Given the description of an element on the screen output the (x, y) to click on. 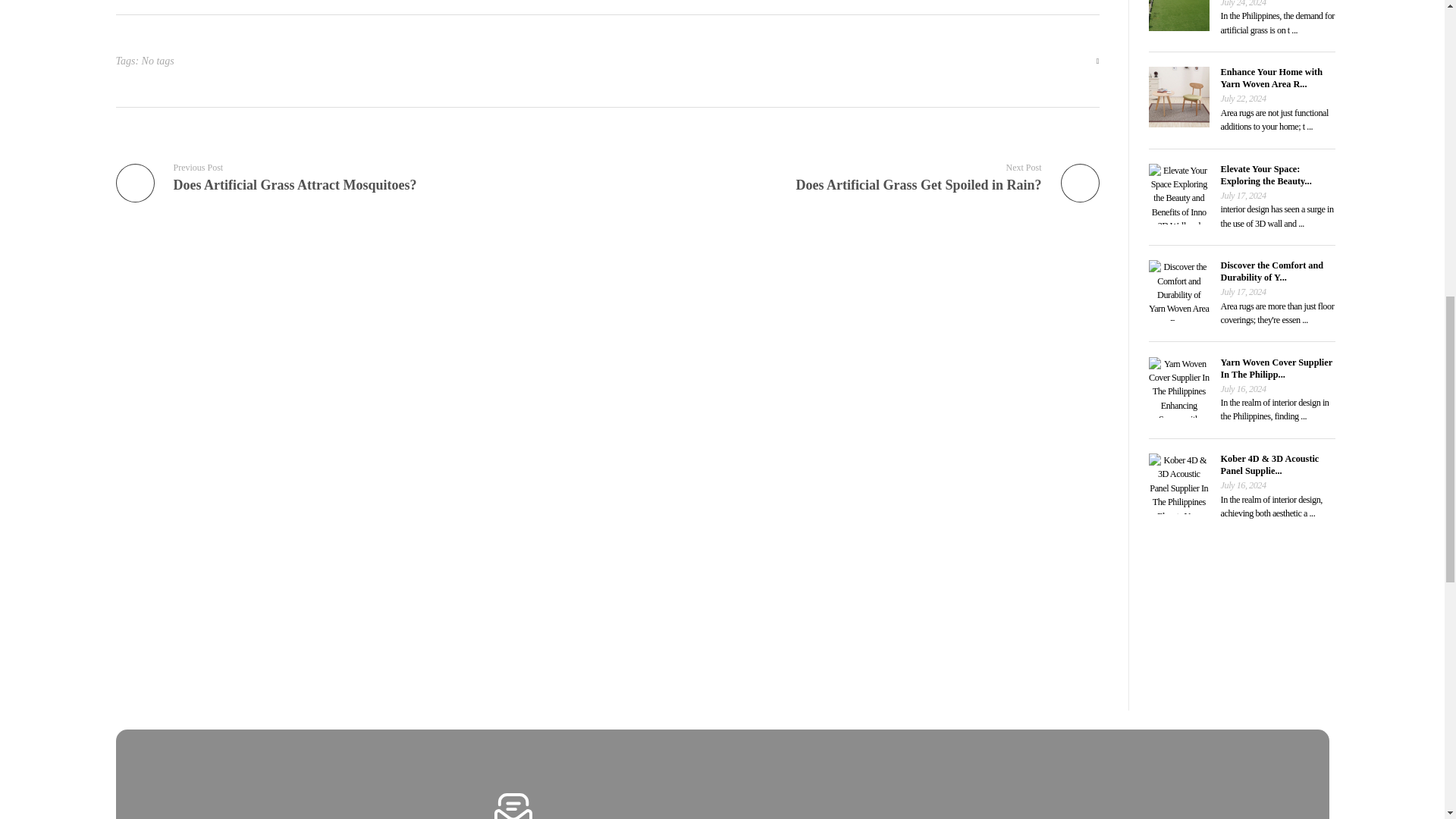
Yarn Woven Cover Supplier In The Philipp... (1276, 368)
Discover the Comfort and Durability of Y... (1272, 271)
Elevate Your Space: Exploring the Beauty... (1266, 174)
Enhance Your Home with Yarn Woven Area R... (355, 176)
